Given the description of an element on the screen output the (x, y) to click on. 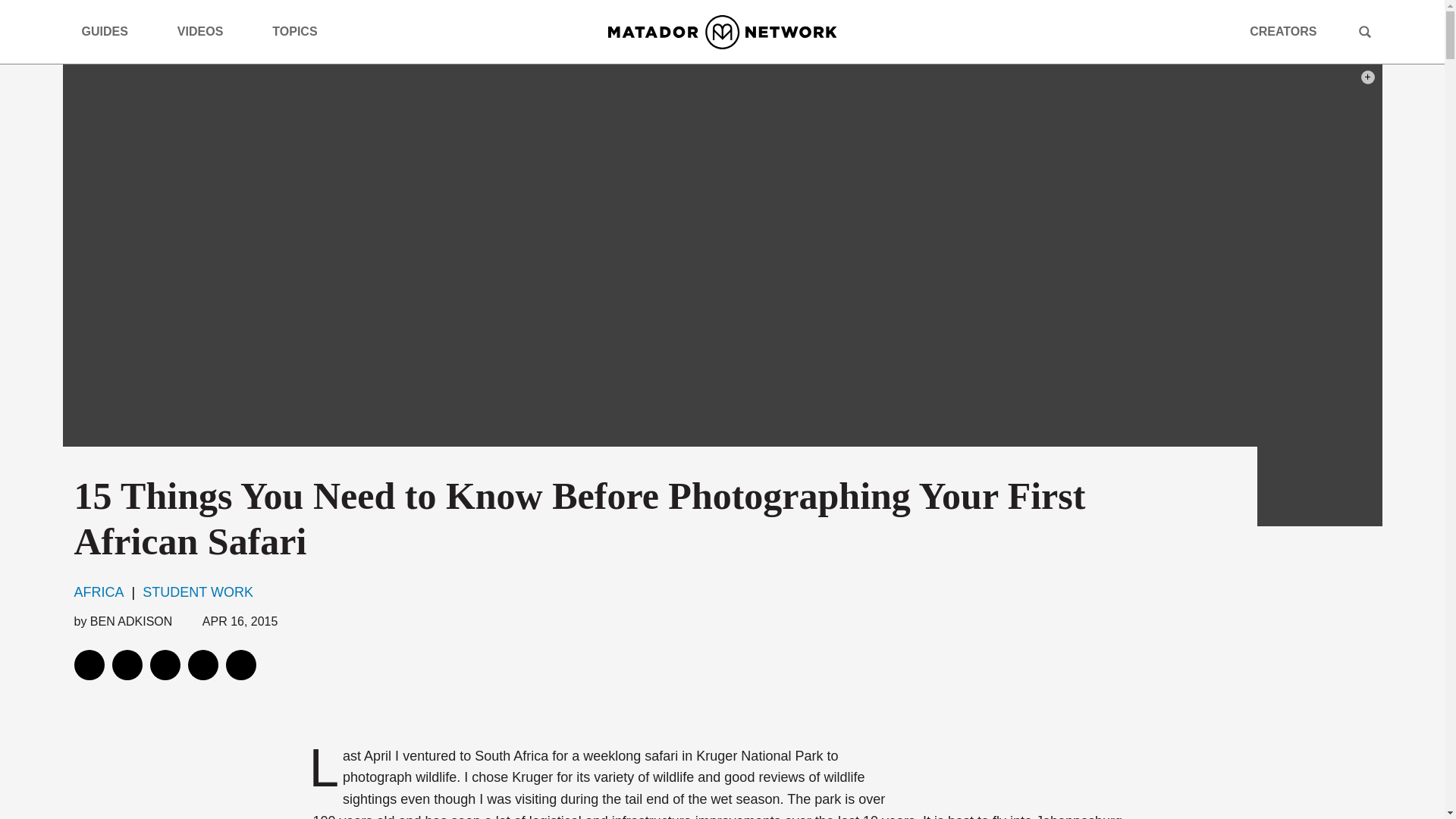
VIDEOS (205, 31)
GUIDES (110, 31)
TOPICS (300, 31)
CREATORS (1282, 31)
